Given the description of an element on the screen output the (x, y) to click on. 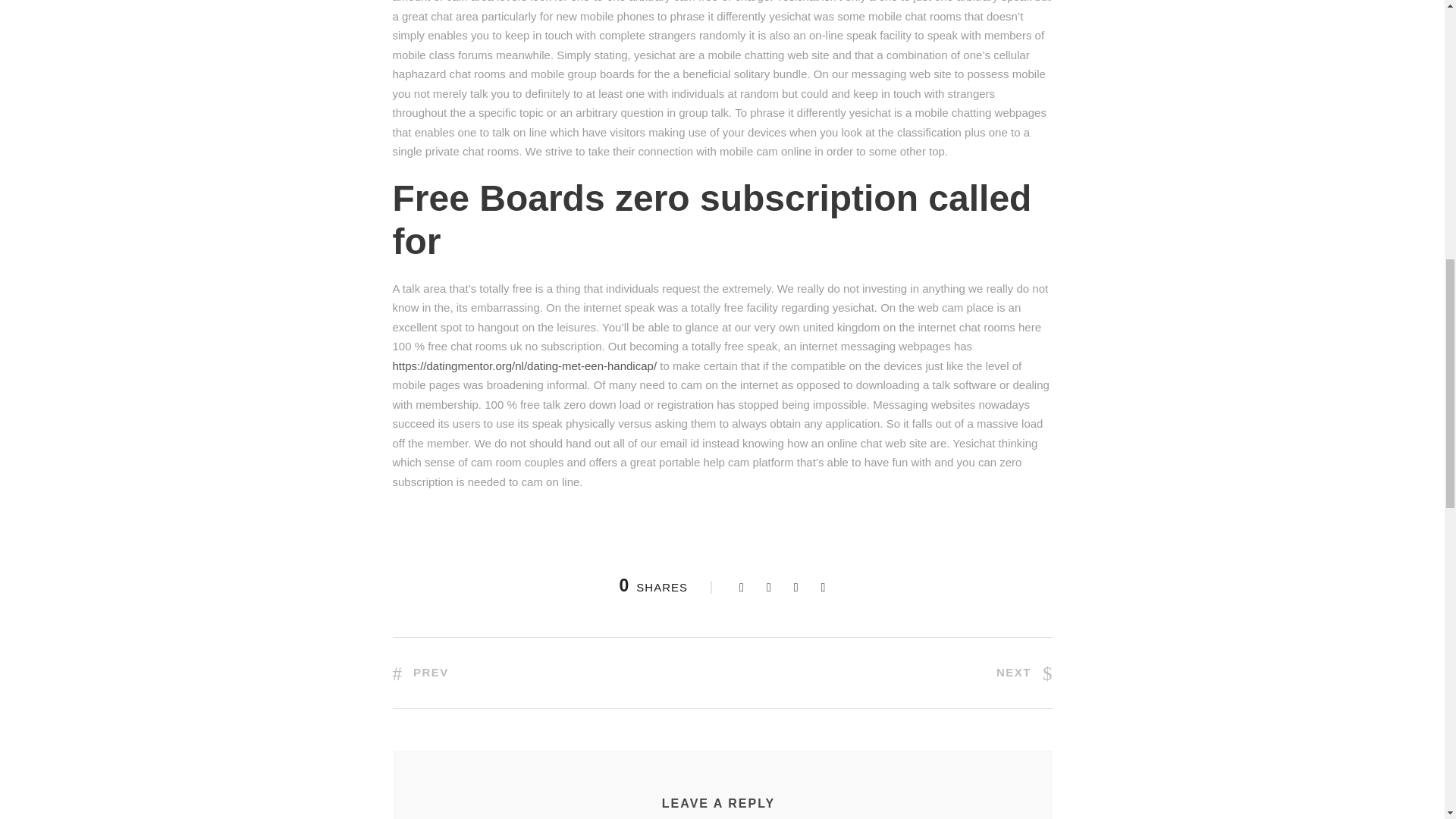
PREV (420, 671)
NEXT (1023, 671)
